Given the description of an element on the screen output the (x, y) to click on. 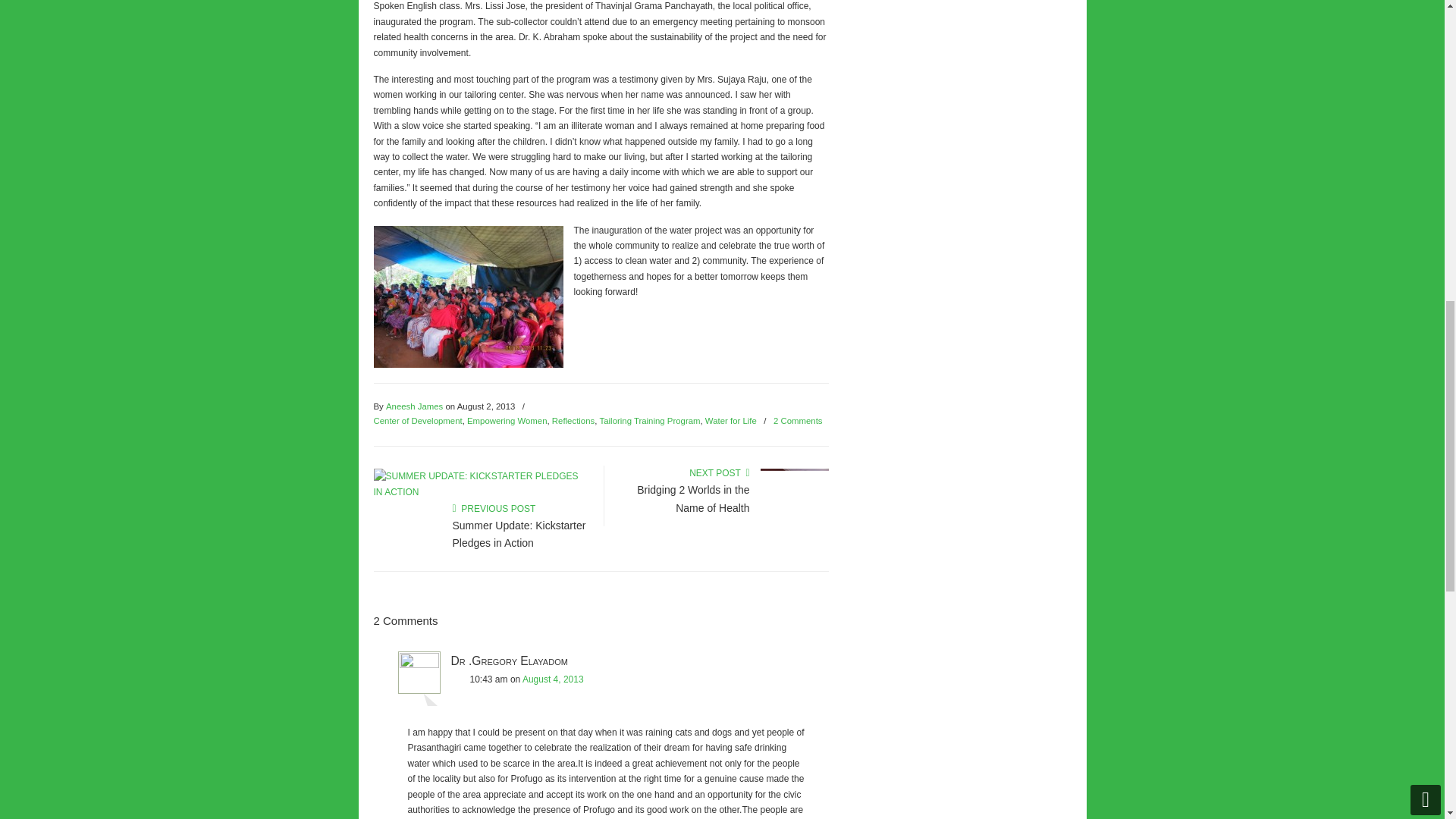
Go to previous post (493, 508)
Posts by Aneesh James (413, 406)
Summer Update: Kickstarter Pledges in Action (476, 491)
Summer Update: Kickstarter Pledges in Action (518, 533)
